Given the description of an element on the screen output the (x, y) to click on. 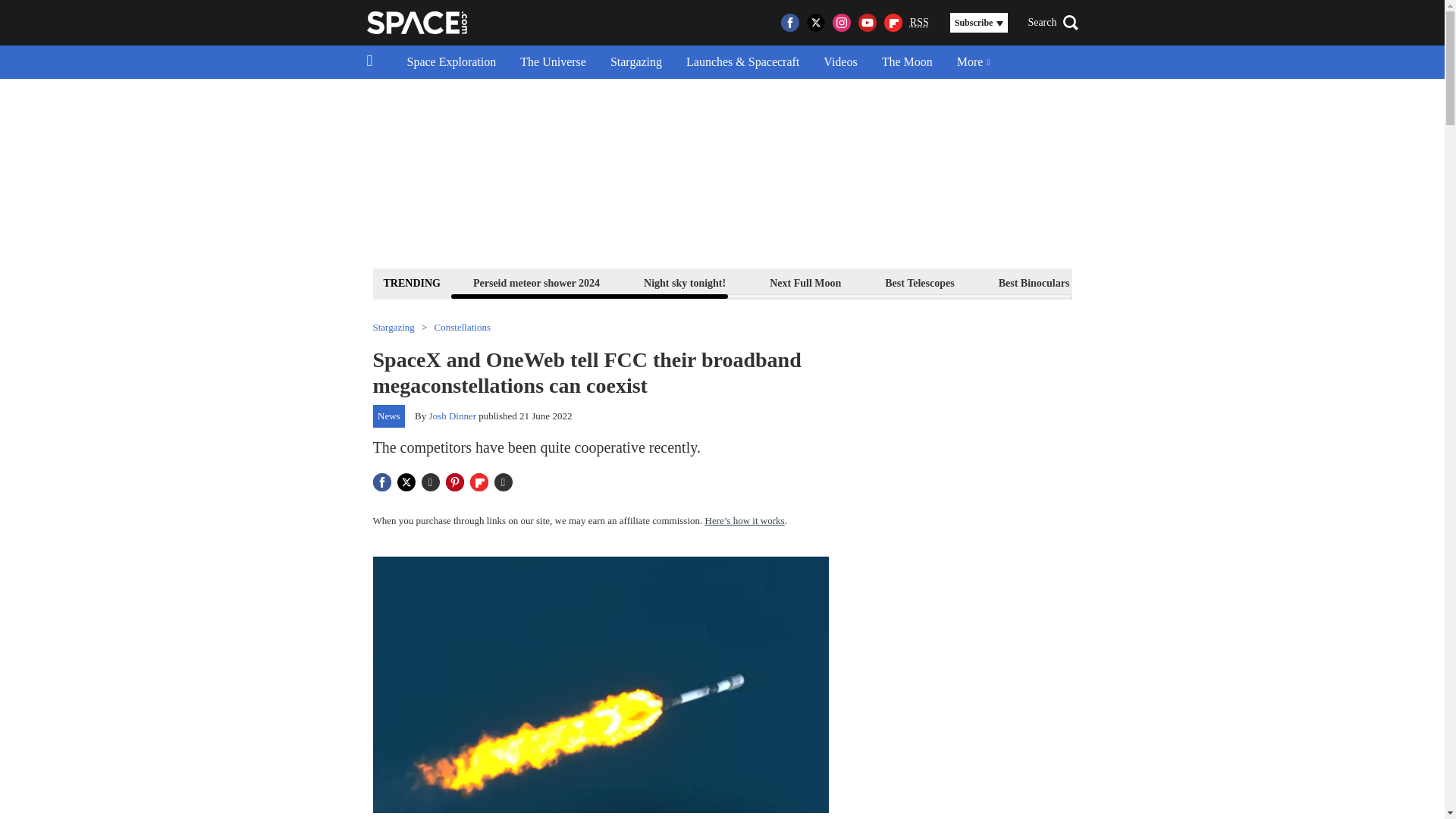
Night sky tonight! (684, 282)
Videos (839, 61)
Perseid meteor shower 2024 (536, 282)
RSS (919, 22)
The Moon (906, 61)
Stargazing (636, 61)
Space Exploration (451, 61)
Best Binoculars (1033, 282)
Really Simple Syndication (919, 21)
Next Full Moon (804, 282)
